Given the description of an element on the screen output the (x, y) to click on. 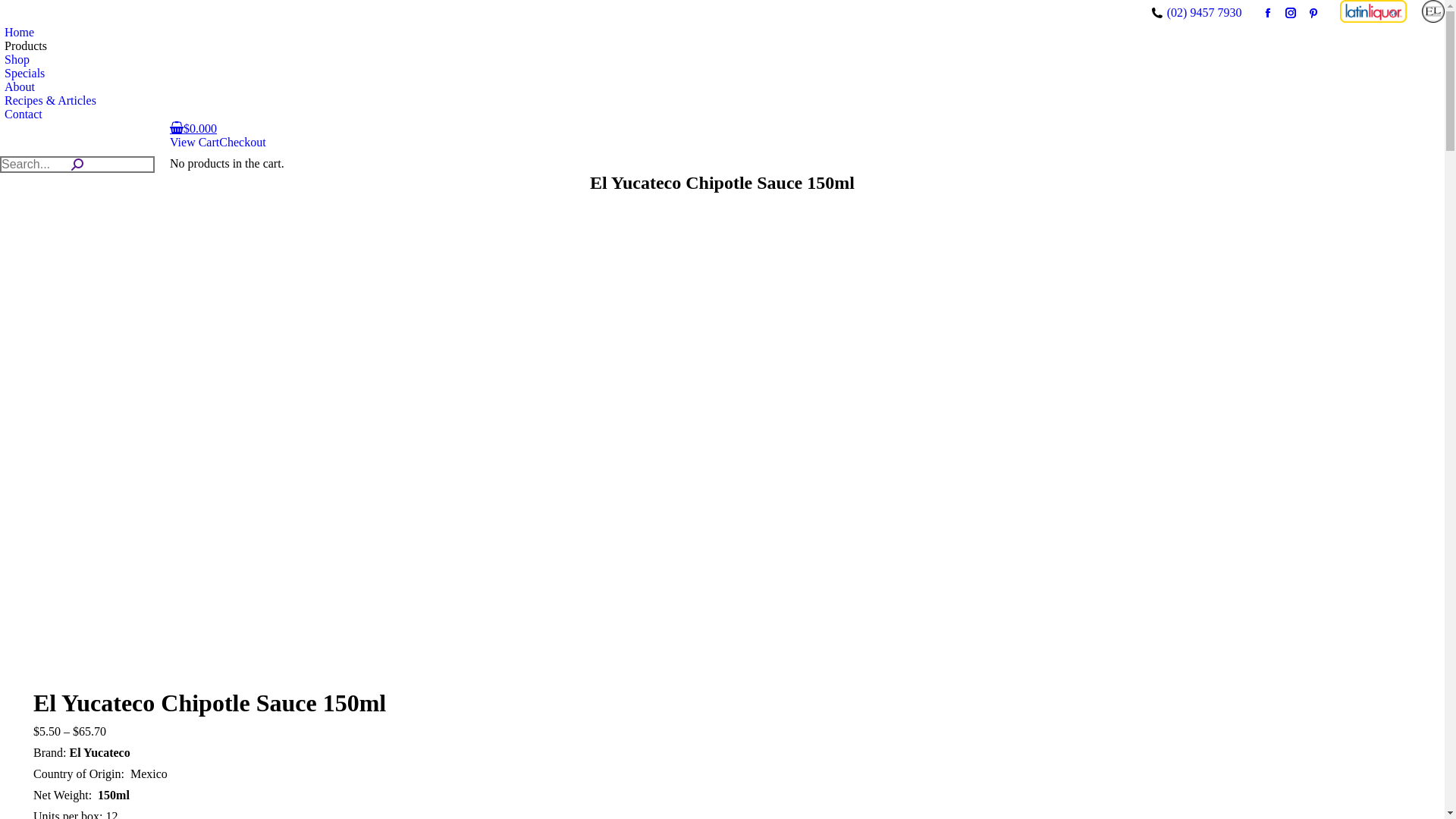
Instagram page opens in new window Element type: text (1290, 12)
Specials Element type: text (22, 73)
Facebook page opens in new window Element type: text (1267, 12)
Submit Element type: text (20, 8)
Home Element type: text (17, 32)
About Element type: text (17, 87)
(02) 9457 7930 Element type: text (1204, 12)
Shop Element type: text (14, 59)
Checkout Element type: text (242, 142)
Products Element type: text (23, 46)
Search form Element type: hover (77, 164)
Go! Element type: text (11, 8)
View Cart Element type: text (194, 142)
Pinterest page opens in new window Element type: text (1313, 12)
Recipes & Articles Element type: text (48, 100)
$0.000 Element type: text (192, 128)
Contact Element type: text (21, 114)
